Given the description of an element on the screen output the (x, y) to click on. 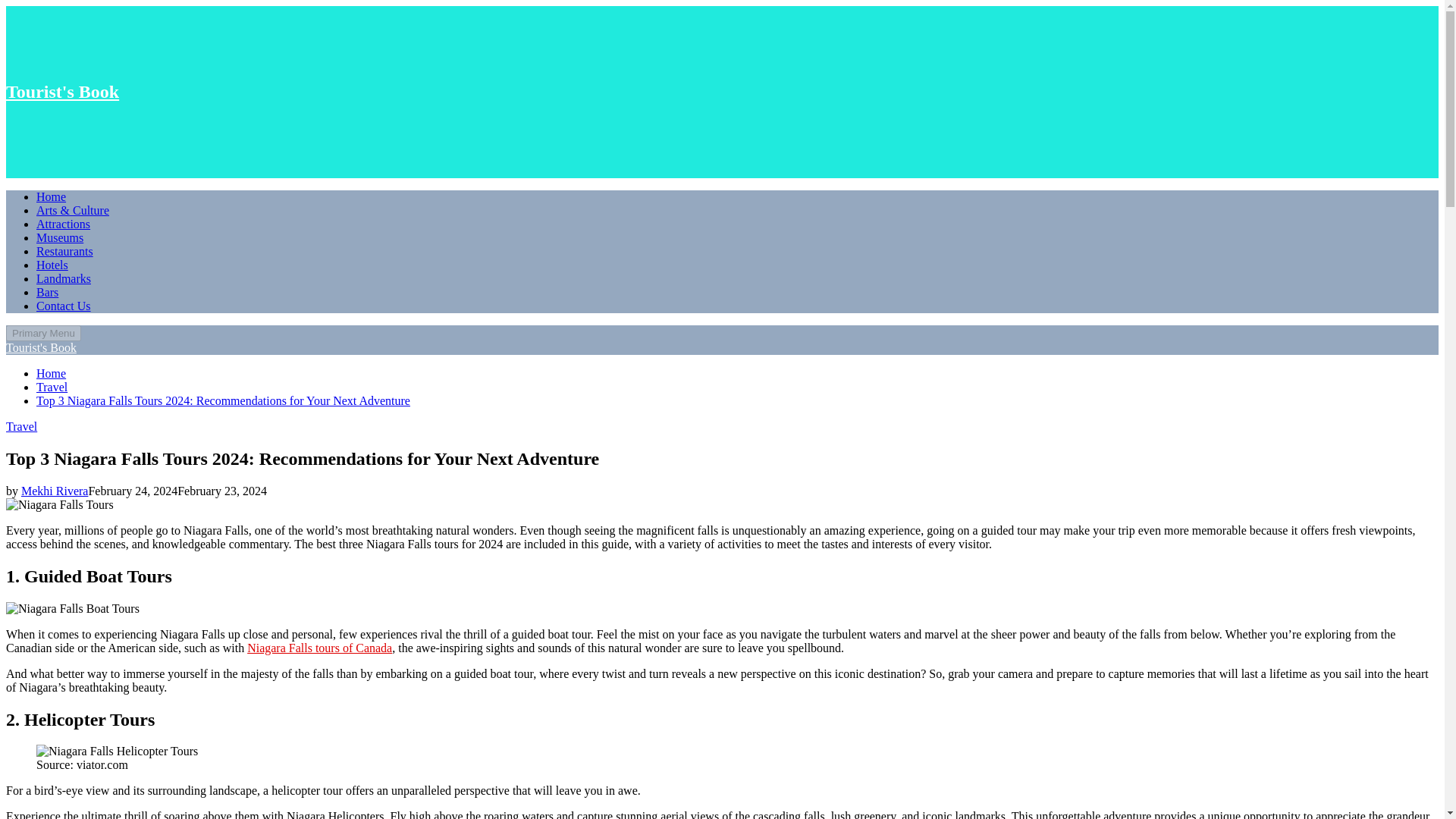
Travel (21, 426)
Attractions (63, 223)
Landmarks (63, 278)
Home (50, 373)
Tourist's Book (41, 347)
Contact Us (63, 305)
Niagara Falls tours of Canada (319, 647)
Tourist's Book (62, 91)
Primary Menu (43, 333)
Home (50, 196)
